Given the description of an element on the screen output the (x, y) to click on. 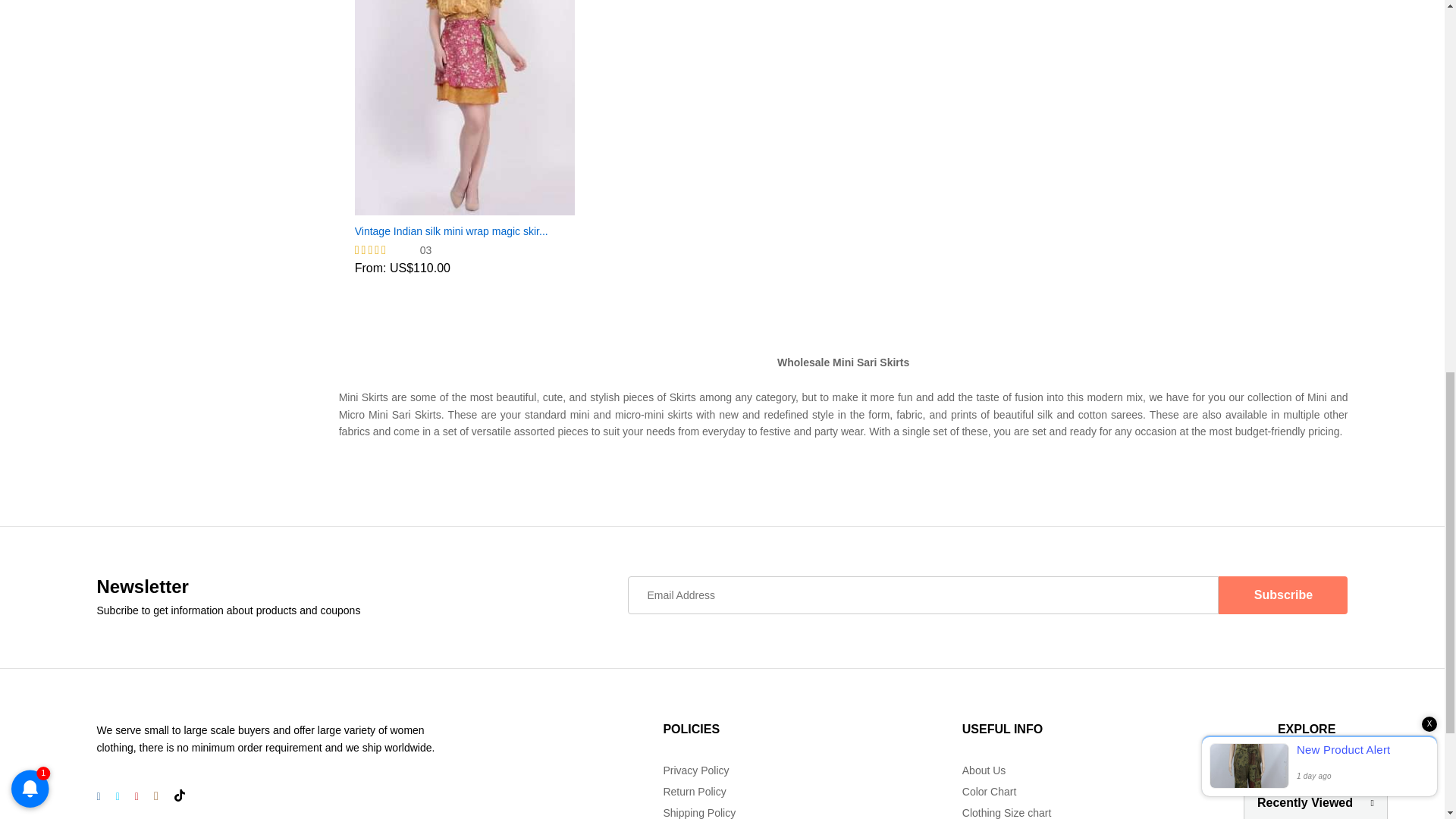
Subscribe (1283, 595)
